Given the description of an element on the screen output the (x, y) to click on. 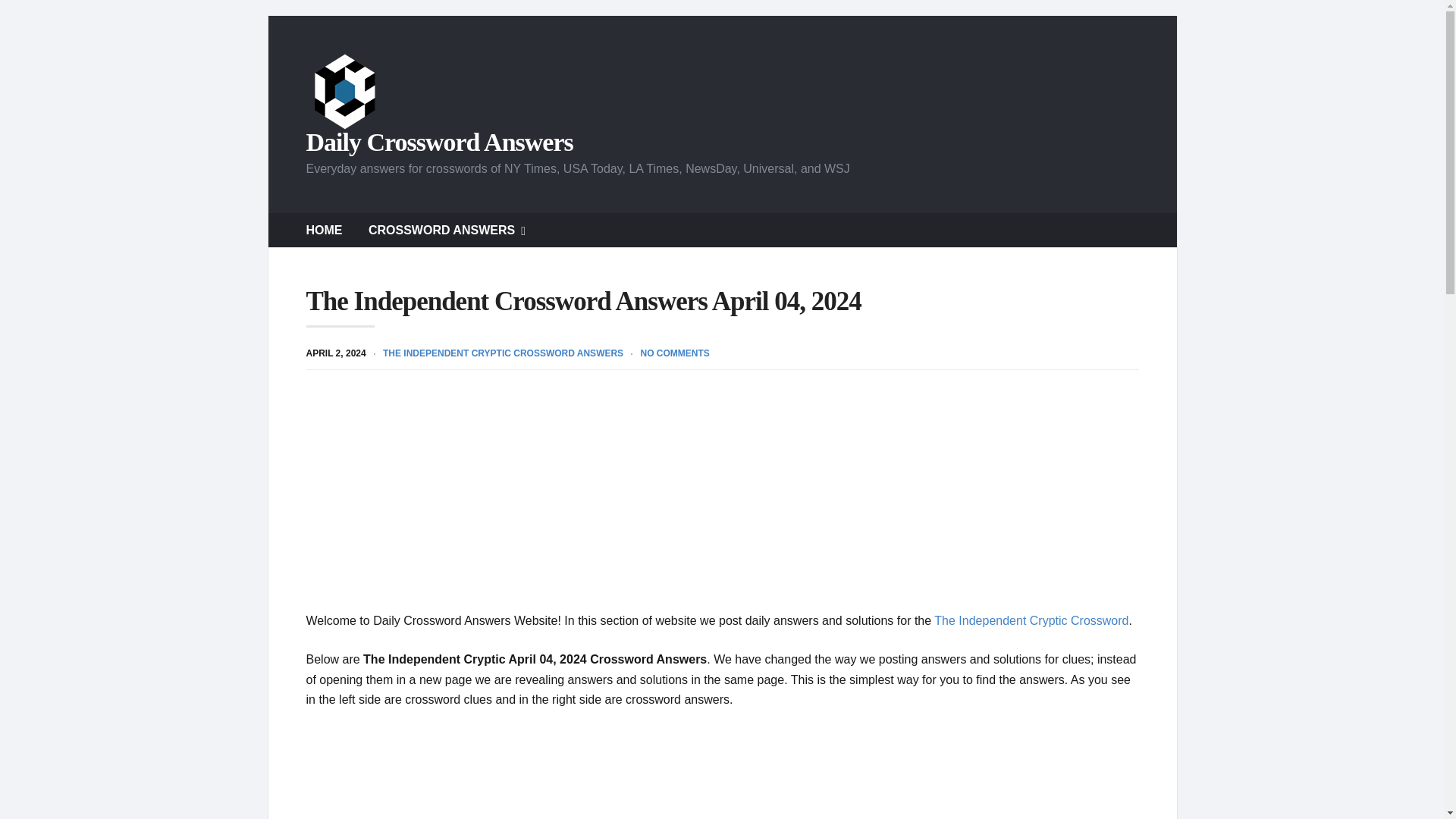
The Independent Cryptic Crossword (1031, 620)
Daily Crossword Answers (439, 142)
NO COMMENTS (674, 353)
THE INDEPENDENT CRYPTIC CROSSWORD ANSWERS (502, 353)
Advertisement (721, 773)
HOME (323, 229)
CROSSWORD ANSWERS (446, 229)
